Given the description of an element on the screen output the (x, y) to click on. 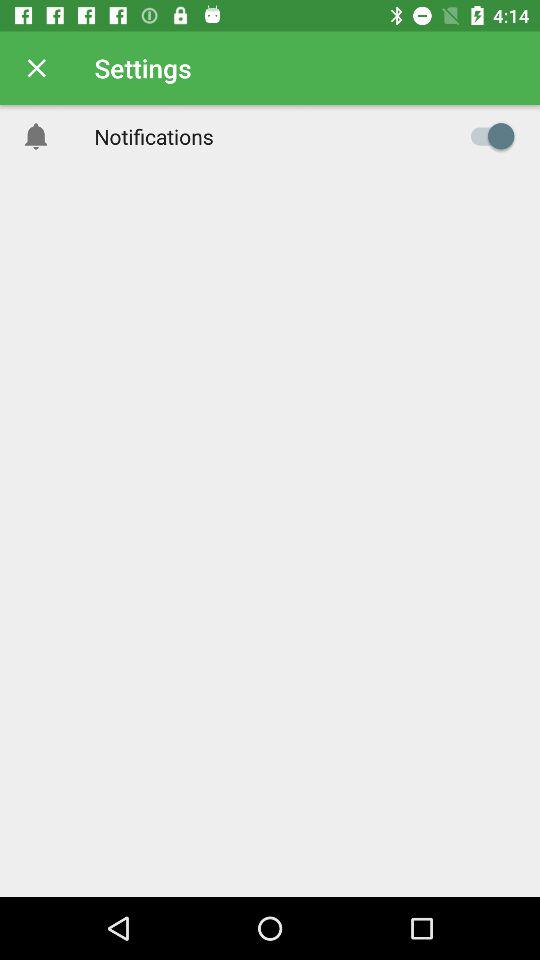
turn on the icon next to settings icon (36, 68)
